Given the description of an element on the screen output the (x, y) to click on. 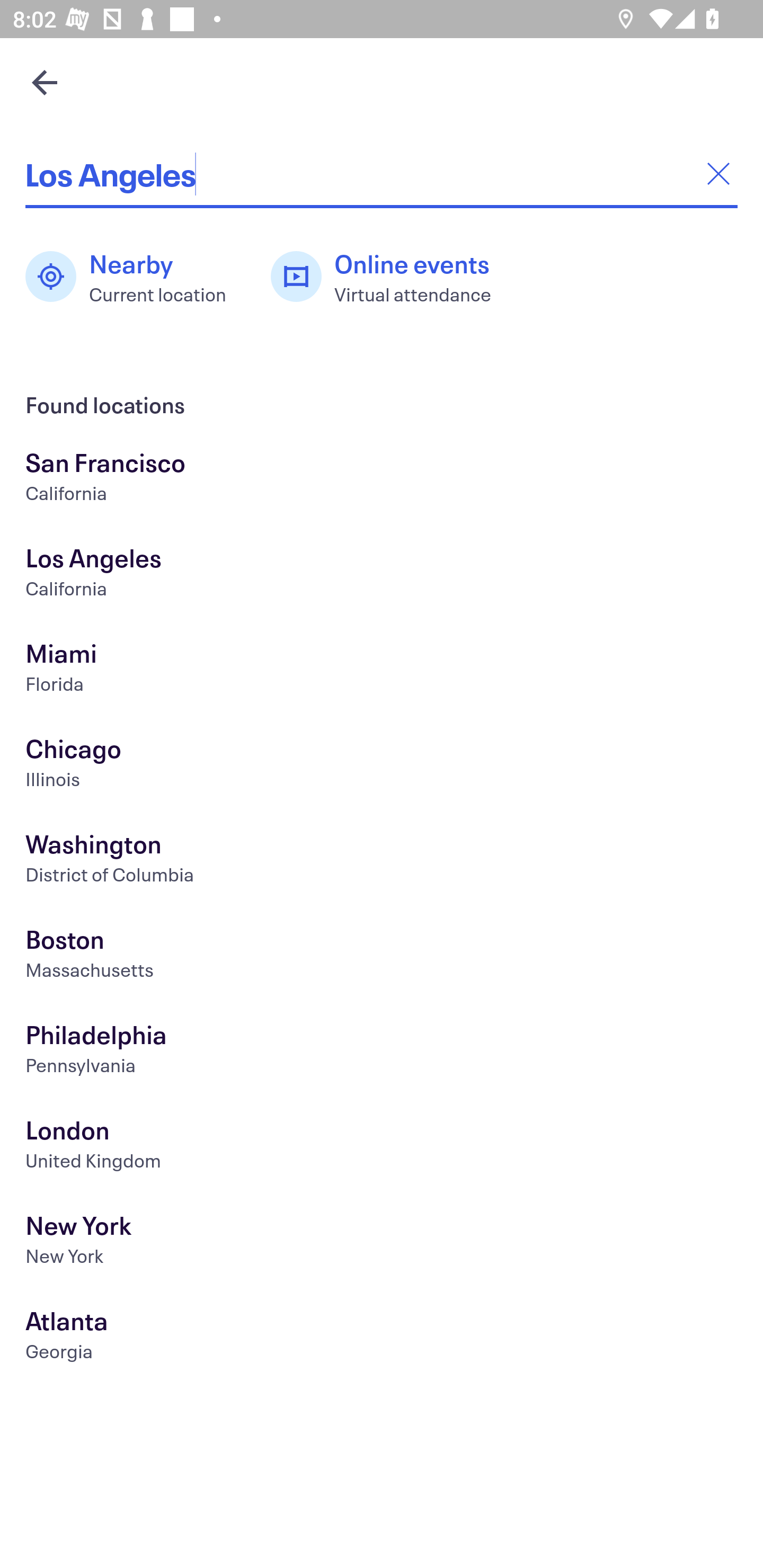
Navigate up (44, 82)
Los Angeles (381, 173)
Nearby Current location (135, 276)
Online events Virtual attendance (390, 276)
San Francisco California (381, 479)
Los Angeles California (381, 574)
Miami Florida (381, 670)
Chicago Illinois (381, 765)
Washington District of Columbia (381, 861)
Boston Massachusetts (381, 955)
Philadelphia Pennsylvania (381, 1051)
London United Kingdom (381, 1146)
New York (381, 1242)
Atlanta Georgia (381, 1338)
